Given the description of an element on the screen output the (x, y) to click on. 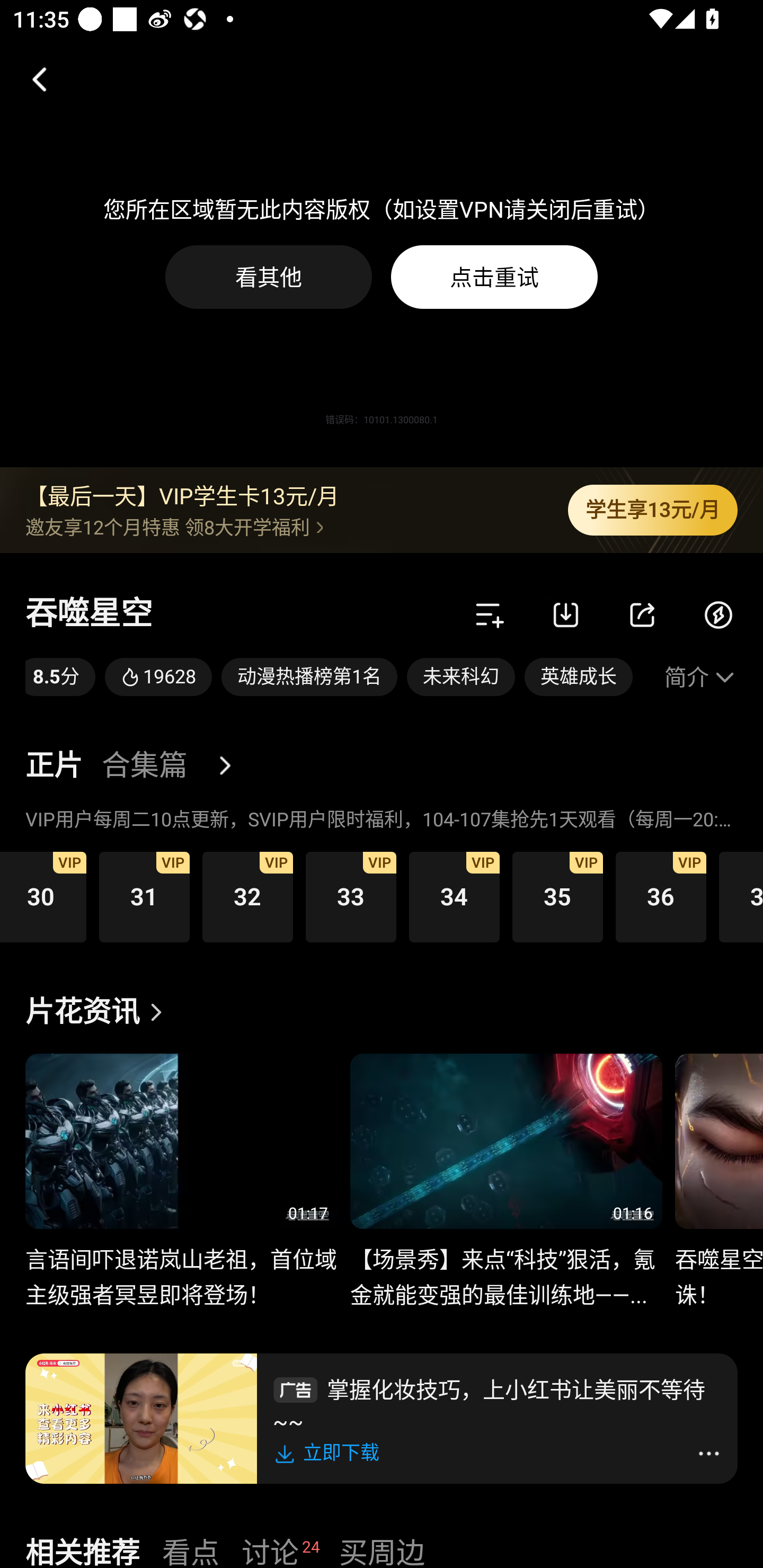
返回，按钮 (31, 78)
看其他 您所在区域暂无此内容版权（如设置VPN请关闭后重试） 看其他按钮 (268, 276)
点击重试 您所在区域暂无此内容版权（如设置VPN请关闭后重试） 点击重试按钮 (493, 276)
学生享13元/月 (652, 510)
邀友享12个月特惠 领8大开学福利 (283, 526)
吞噬星空 (88, 614)
加追,双击可加追,按钮 (489, 614)
下载,链接 (566, 614)
分享,链接 (642, 614)
发电,链接 (718, 614)
8.5分 8.5分,链接 (60, 677)
19628 热度值 19628,链接 (158, 677)
动漫热播榜第1名 动漫热播榜第1名,链接 (309, 677)
未来科幻 未来科幻,链接 (460, 677)
英雄成长 英雄成长,链接 (578, 677)
简介 (700, 677)
正片 (53, 765)
合集篇 (144, 765)
更多,链接 (231, 765)
第30集 30 (43, 896)
第31集 31 (144, 896)
第32集 32 (247, 896)
第33集 33 (350, 896)
第34集 34 (453, 896)
第35集 35 (557, 896)
第36集 36 (660, 896)
片花资讯 链接 (98, 1011)
言语间吓退诺岚山老祖，首位域主级强者冥昱即将登场！ (181, 1267)
【场景秀】来点“科技”狠活，氪金就能变强的最佳训练地——... (506, 1267)
imgimg掌握化妆技巧，上小红书让美丽不等待~~ (497, 1403)
立即下载 (330, 1452)
相关推荐 (82, 1549)
看点 (190, 1549)
讨论 (270, 1549)
买周边 (381, 1549)
